Given the description of an element on the screen output the (x, y) to click on. 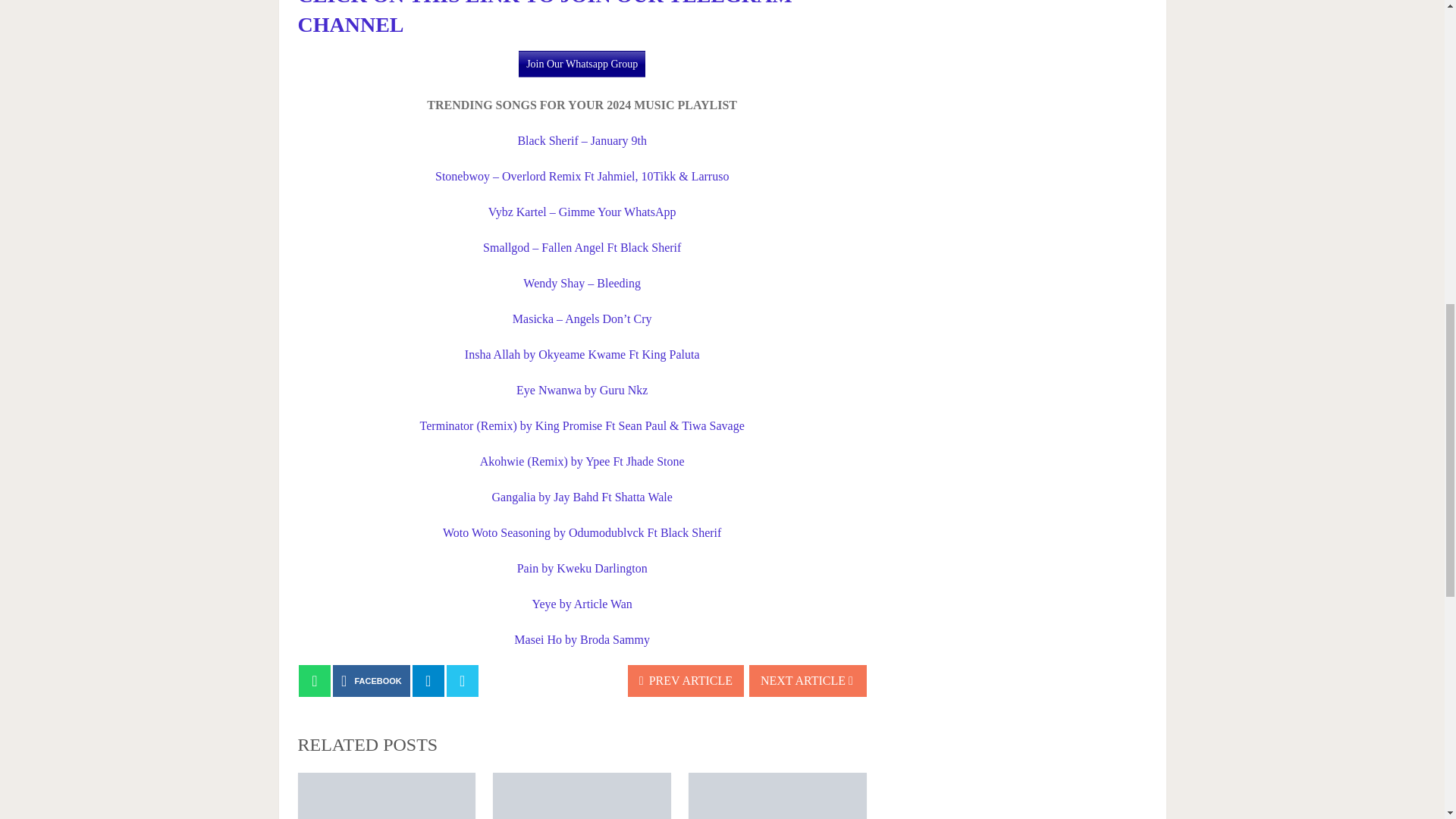
Masei Ho by Broda Sammy (581, 639)
CLICK ON THIS LINK TO JOIN OUR TELEGRAM CHANNEL (544, 18)
Insha Allah by Okyeame Kwame Ft King Paluta (582, 354)
FACEBOOK (371, 680)
Join Our Whatsapp Group (581, 63)
Gangalia by Jay Bahd Ft Shatta Wale (581, 496)
Woto Woto Seasoning by Odumodublvck Ft Black Sherif (581, 532)
Eye Nwanwa by Guru Nkz (581, 390)
Pain by Kweku Darlington (581, 567)
Yeye by Article Wan (581, 603)
